Given the description of an element on the screen output the (x, y) to click on. 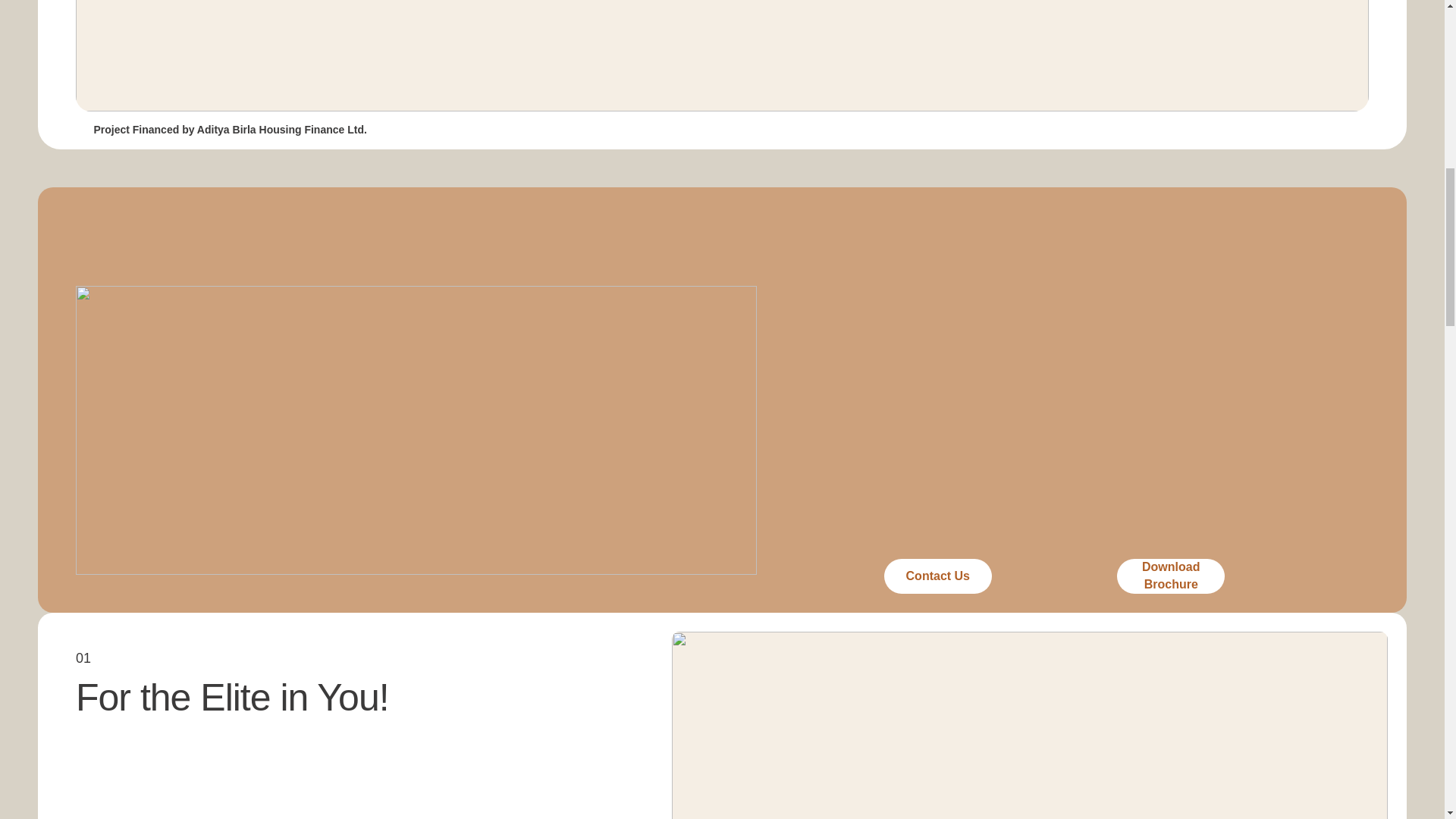
Download Brochure (1170, 575)
Contact Us (937, 575)
